Given the description of an element on the screen output the (x, y) to click on. 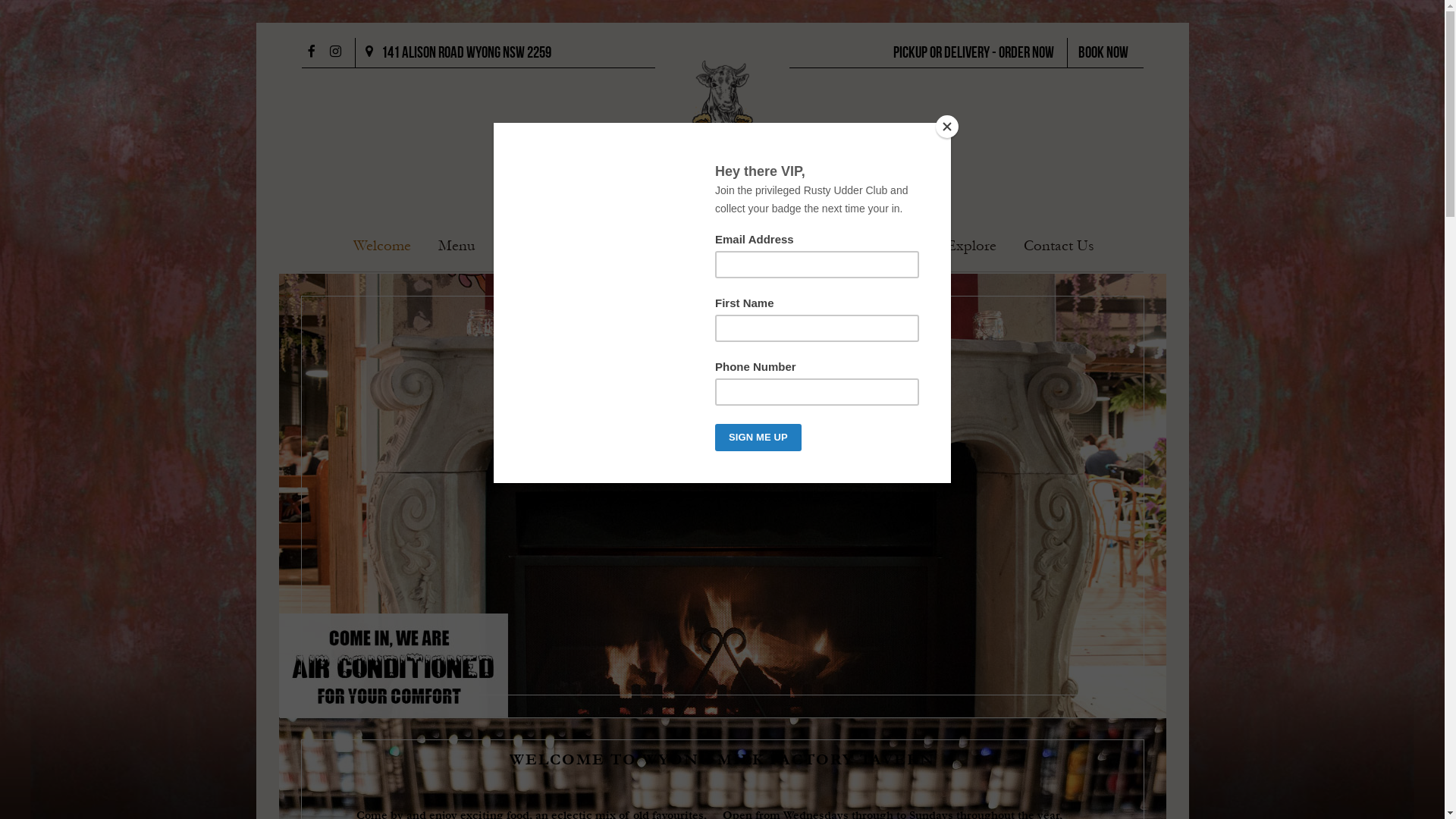
Feedback Element type: text (888, 247)
PICKUP OR DELIVERY - ORDER NOW Element type: text (973, 53)
Explore Element type: text (970, 247)
Contact Us Element type: text (1058, 247)
Wyong Milk Factory Tavern Element type: text (721, 134)
Welcome Element type: text (382, 247)
Menu Element type: text (456, 247)
Functions & Events Element type: text (658, 247)
BOOK NOW Element type: text (1103, 53)
